Given the description of an element on the screen output the (x, y) to click on. 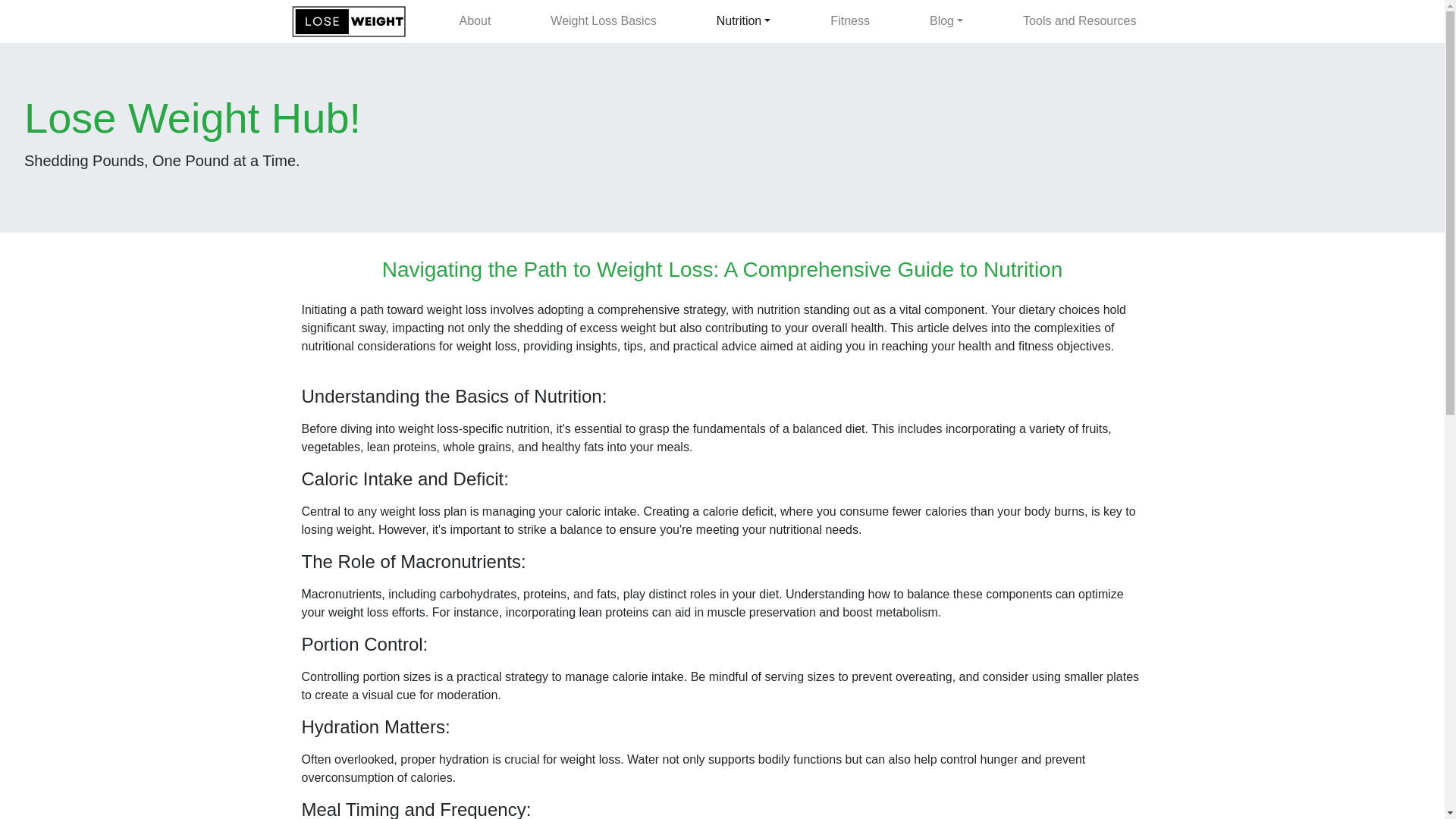
Blog (946, 20)
About (474, 20)
Weight Loss Basics (603, 20)
Tools and Resources (1078, 20)
Fitness (850, 20)
Nutrition (743, 20)
